Given the description of an element on the screen output the (x, y) to click on. 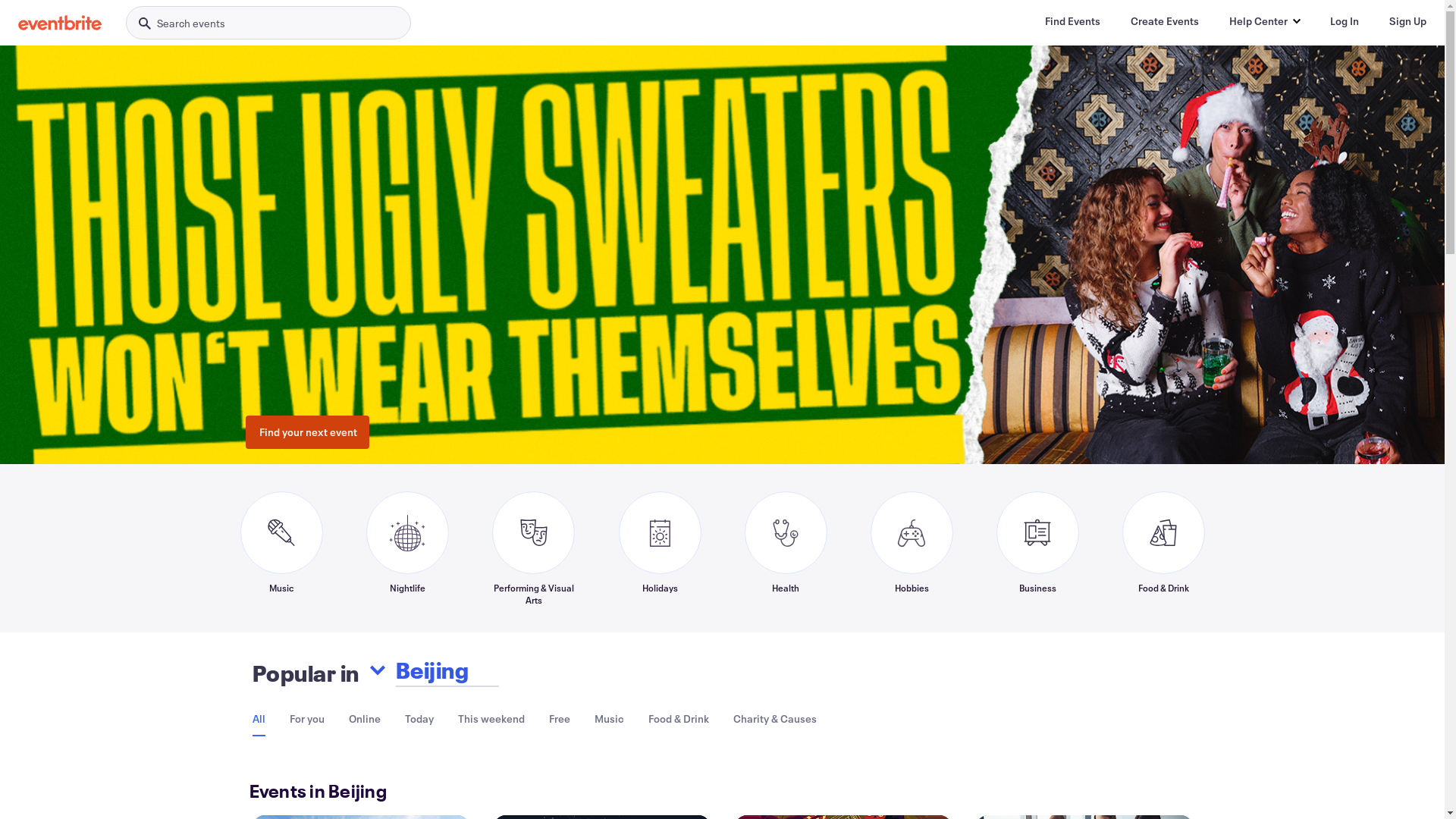
All Element type: text (257, 719)
Performing & Visual Arts Element type: text (532, 548)
Health Element type: text (785, 548)
Find Events Element type: text (1072, 21)
Food & Drink Element type: text (1163, 548)
Online Element type: text (364, 718)
Music Element type: text (609, 718)
Search events Element type: text (268, 22)
Business Element type: text (1037, 548)
Music Element type: text (280, 548)
Charity & Causes Element type: text (773, 718)
This weekend Element type: text (491, 718)
Find your next event Element type: text (307, 431)
Holidays Element type: text (659, 548)
Hobbies Element type: text (911, 548)
Food & Drink Element type: text (677, 718)
Log In Element type: text (1344, 21)
For you Element type: text (306, 718)
Today Element type: text (418, 718)
Nightlife Element type: text (406, 548)
Create Events Element type: text (1164, 21)
Free Element type: text (559, 718)
Sign Up Element type: text (1407, 21)
Eventbrite Element type: hover (59, 22)
